Given the description of an element on the screen output the (x, y) to click on. 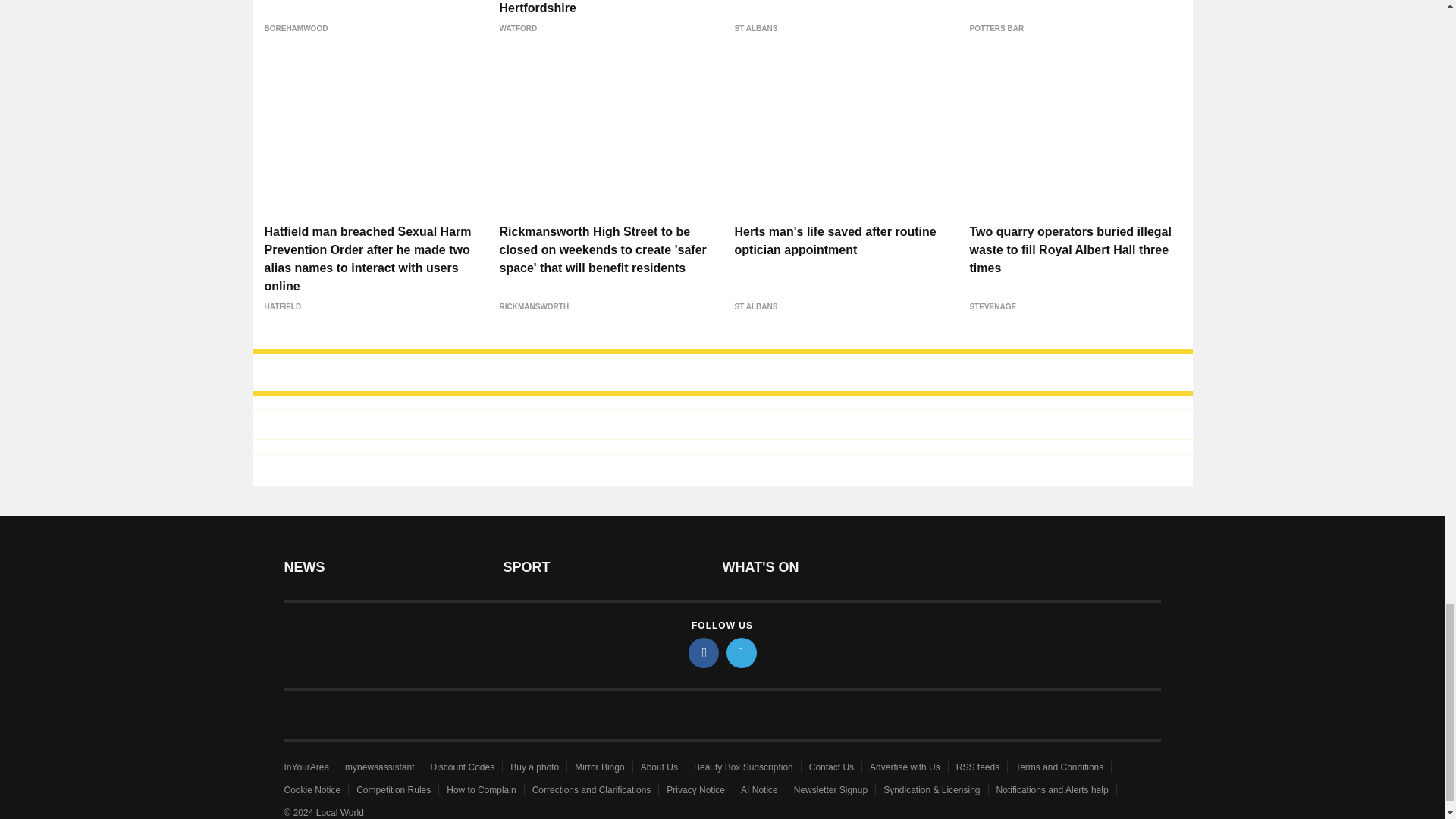
twitter (741, 653)
facebook (703, 653)
